Given the description of an element on the screen output the (x, y) to click on. 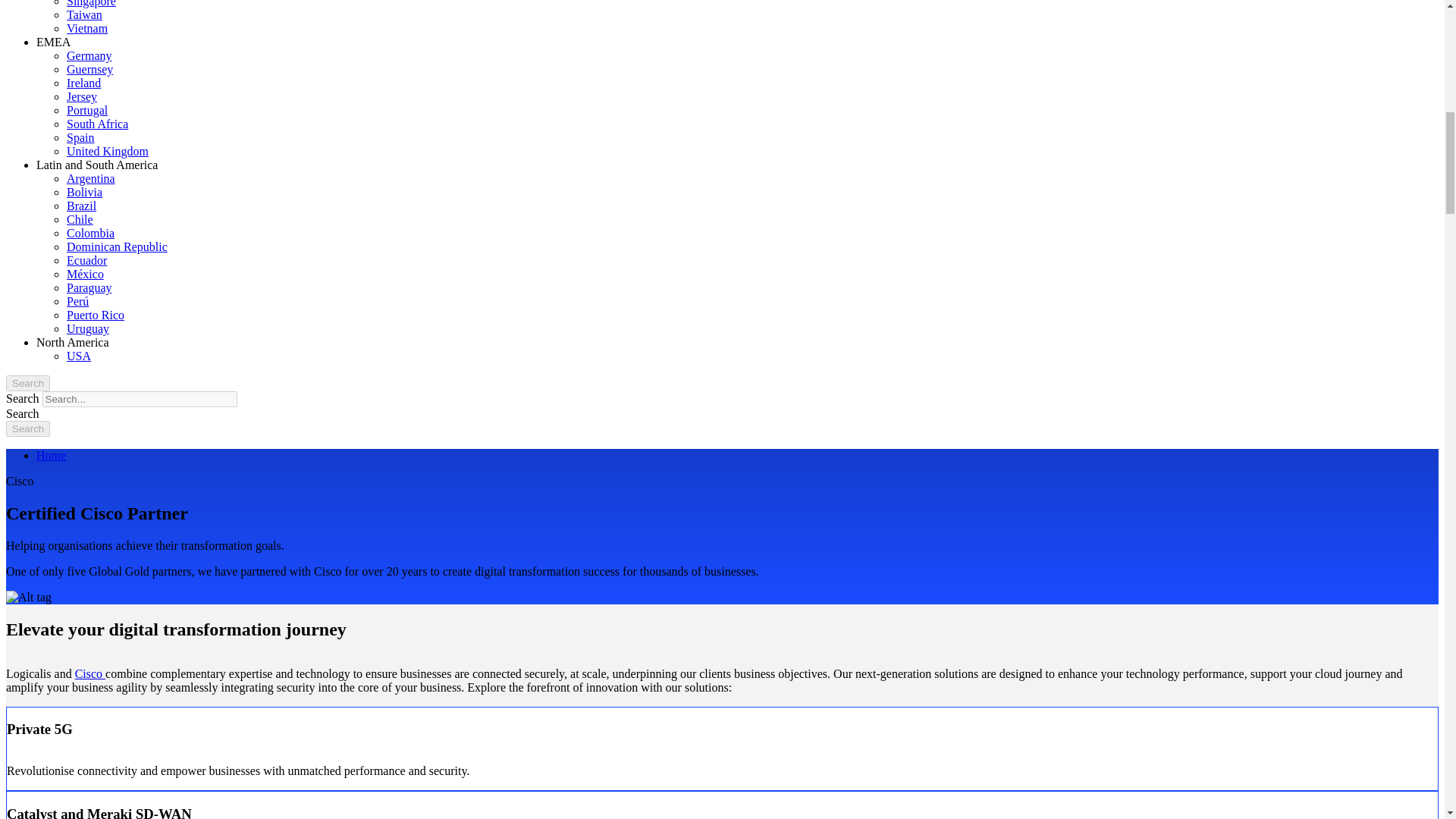
Search (27, 428)
